Given the description of an element on the screen output the (x, y) to click on. 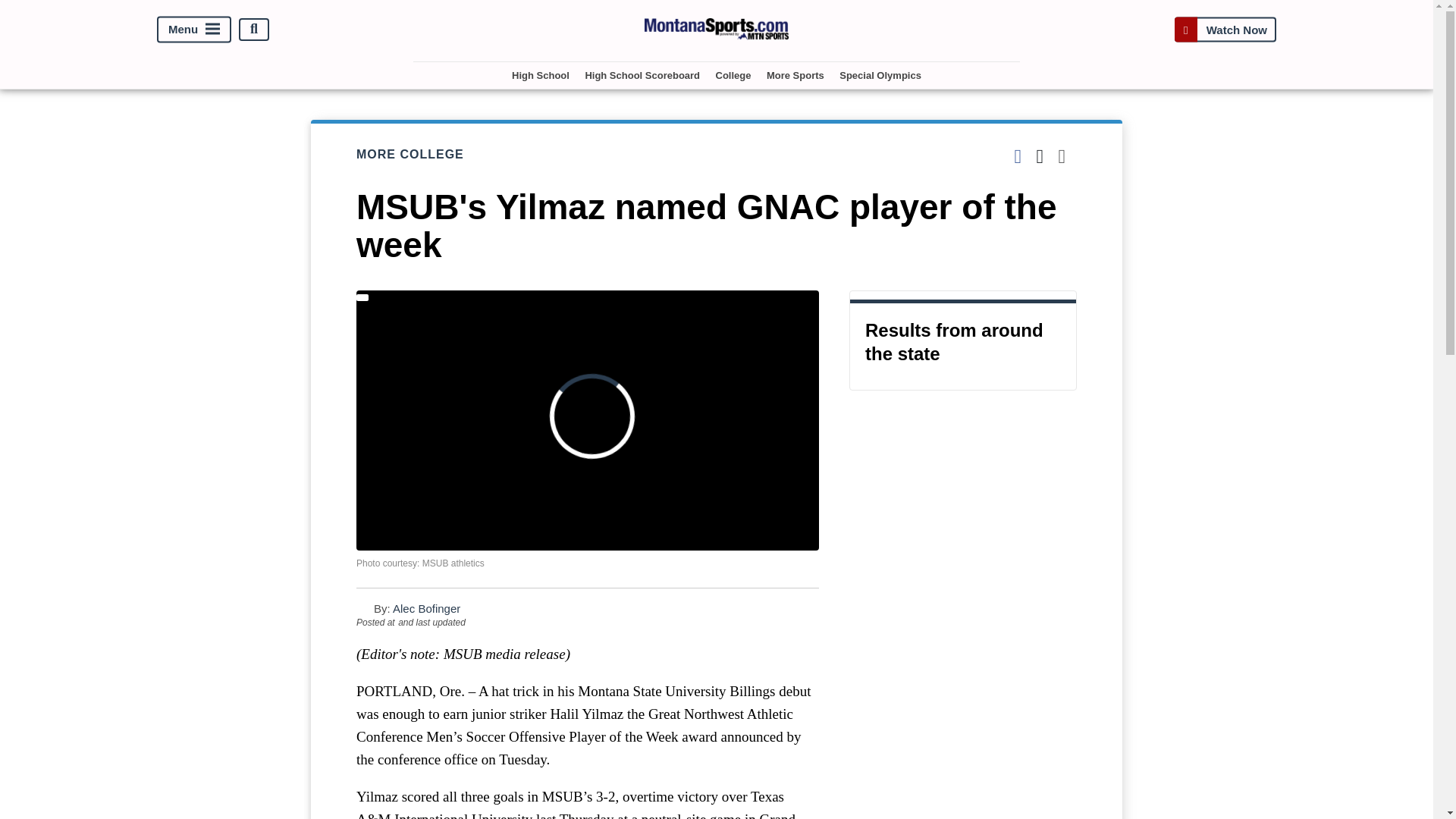
Menu (194, 28)
Watch Now (1224, 29)
